Given the description of an element on the screen output the (x, y) to click on. 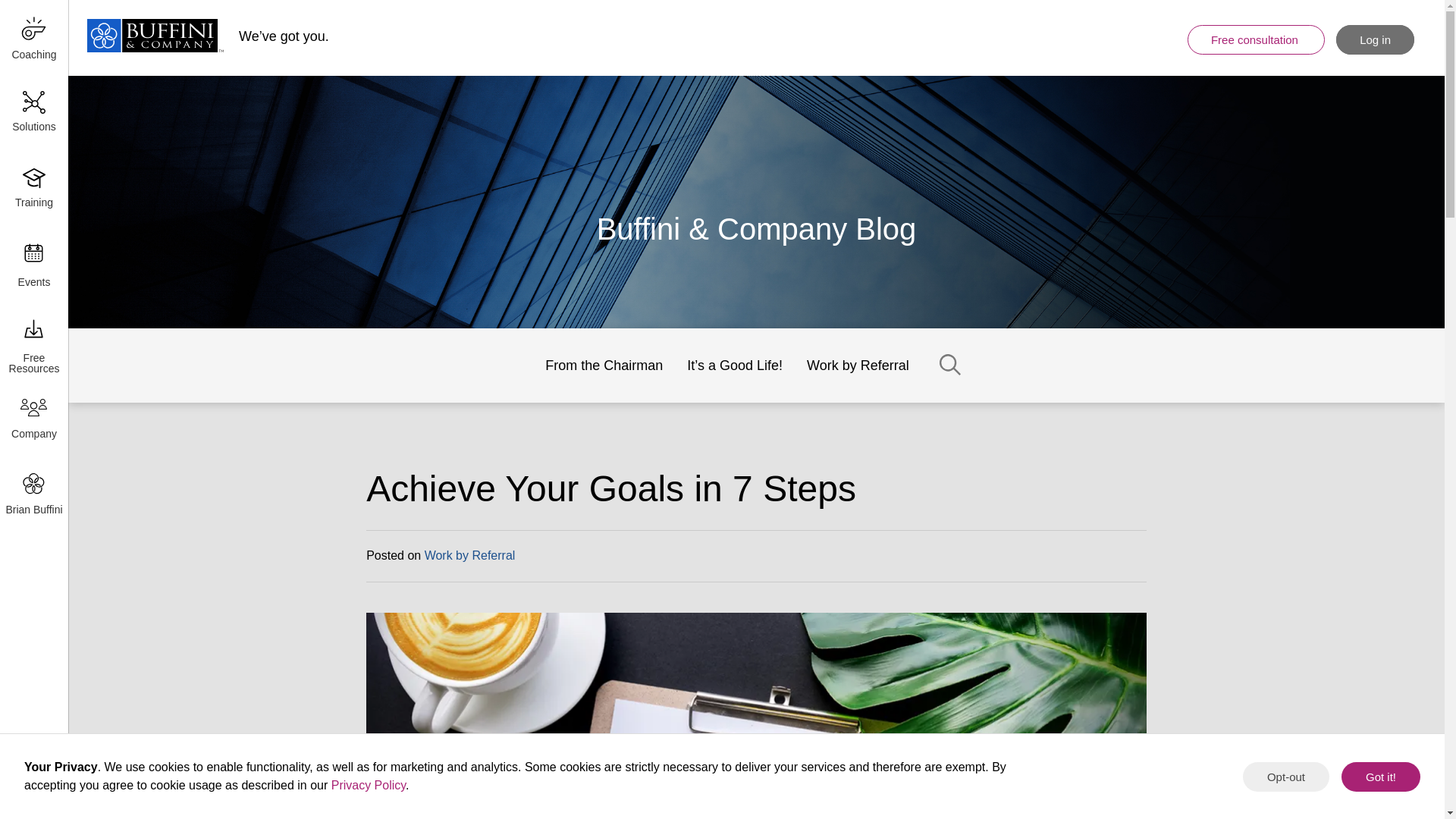
Solutions (33, 113)
Free consultation (1256, 39)
Coaching (33, 37)
Log in (1374, 39)
Training (33, 189)
